Given the description of an element on the screen output the (x, y) to click on. 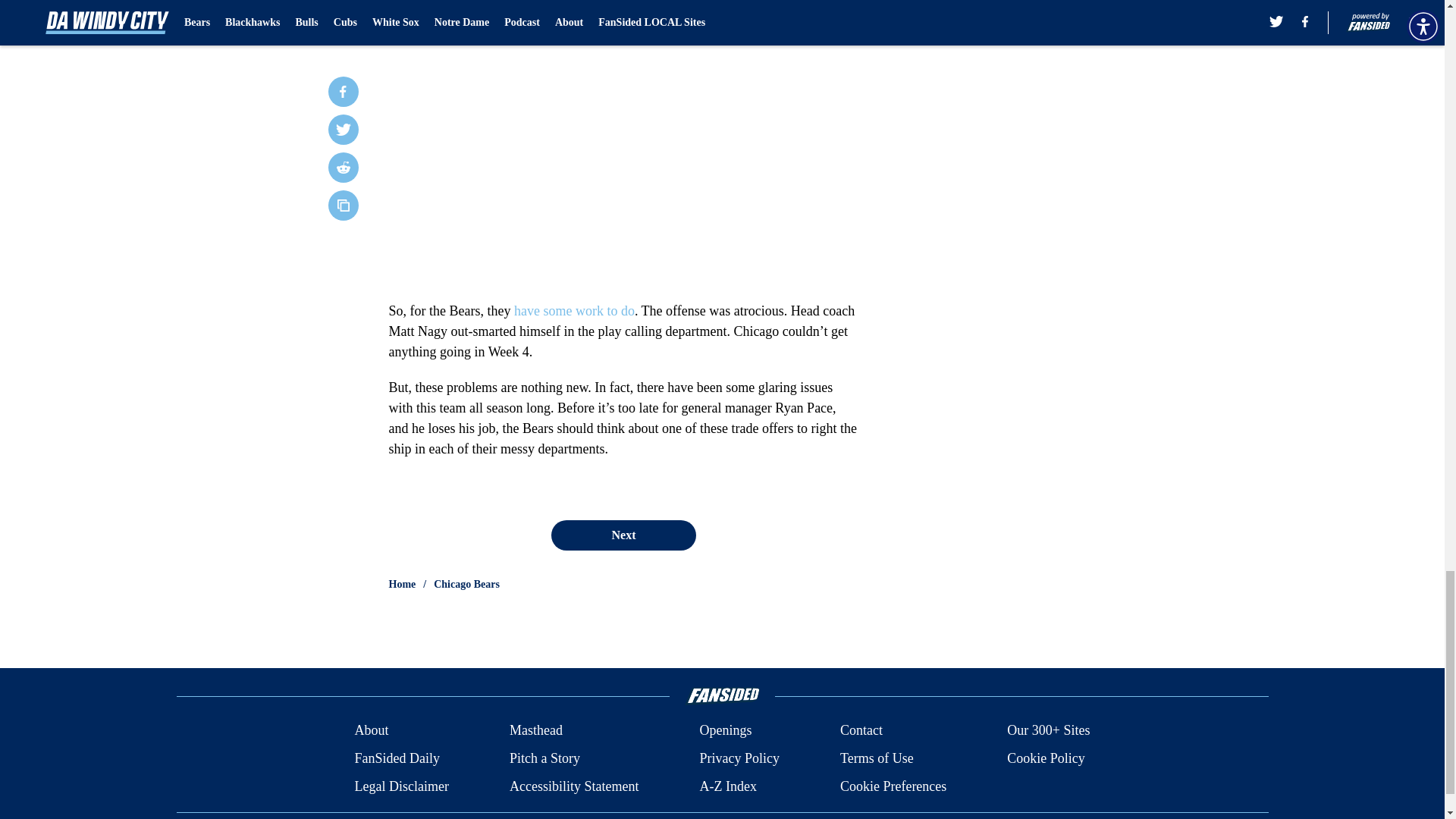
Next (622, 535)
Home (401, 584)
Masthead (535, 730)
About (370, 730)
have some work to do (573, 310)
Chicago Bears (466, 584)
Contact (861, 730)
Openings (724, 730)
